Given the description of an element on the screen output the (x, y) to click on. 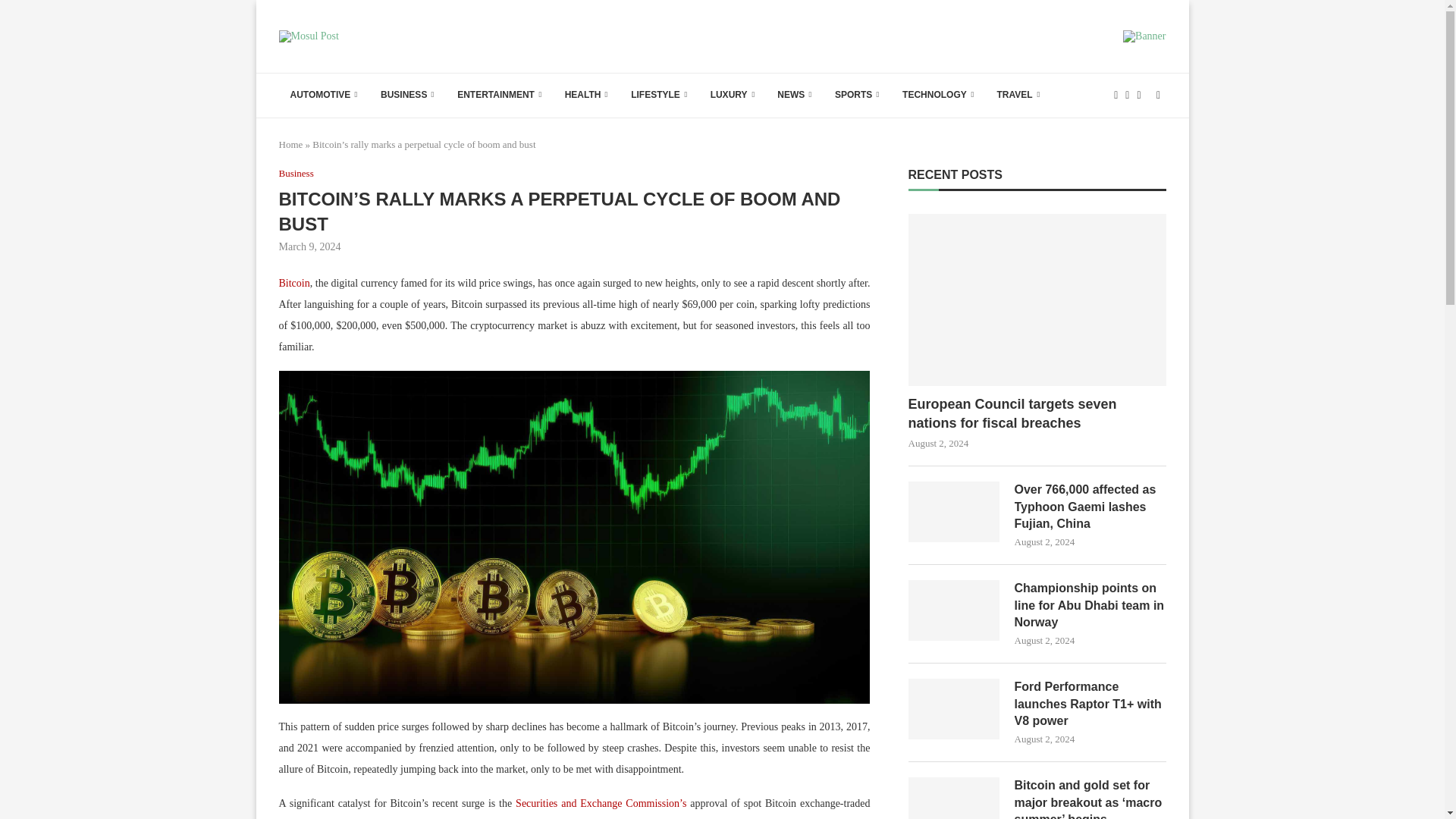
AUTOMOTIVE (324, 94)
European Council targets seven nations for fiscal breaches (1037, 413)
NEWS (794, 94)
TRAVEL (1018, 94)
European Council targets seven nations for fiscal breaches (1037, 299)
SPORTS (857, 94)
LUXURY (732, 94)
ENTERTAINMENT (499, 94)
Business (296, 173)
LIFESTYLE (659, 94)
BUSINESS (407, 94)
Home (290, 143)
TECHNOLOGY (938, 94)
Bitcoin (294, 283)
HEALTH (586, 94)
